Given the description of an element on the screen output the (x, y) to click on. 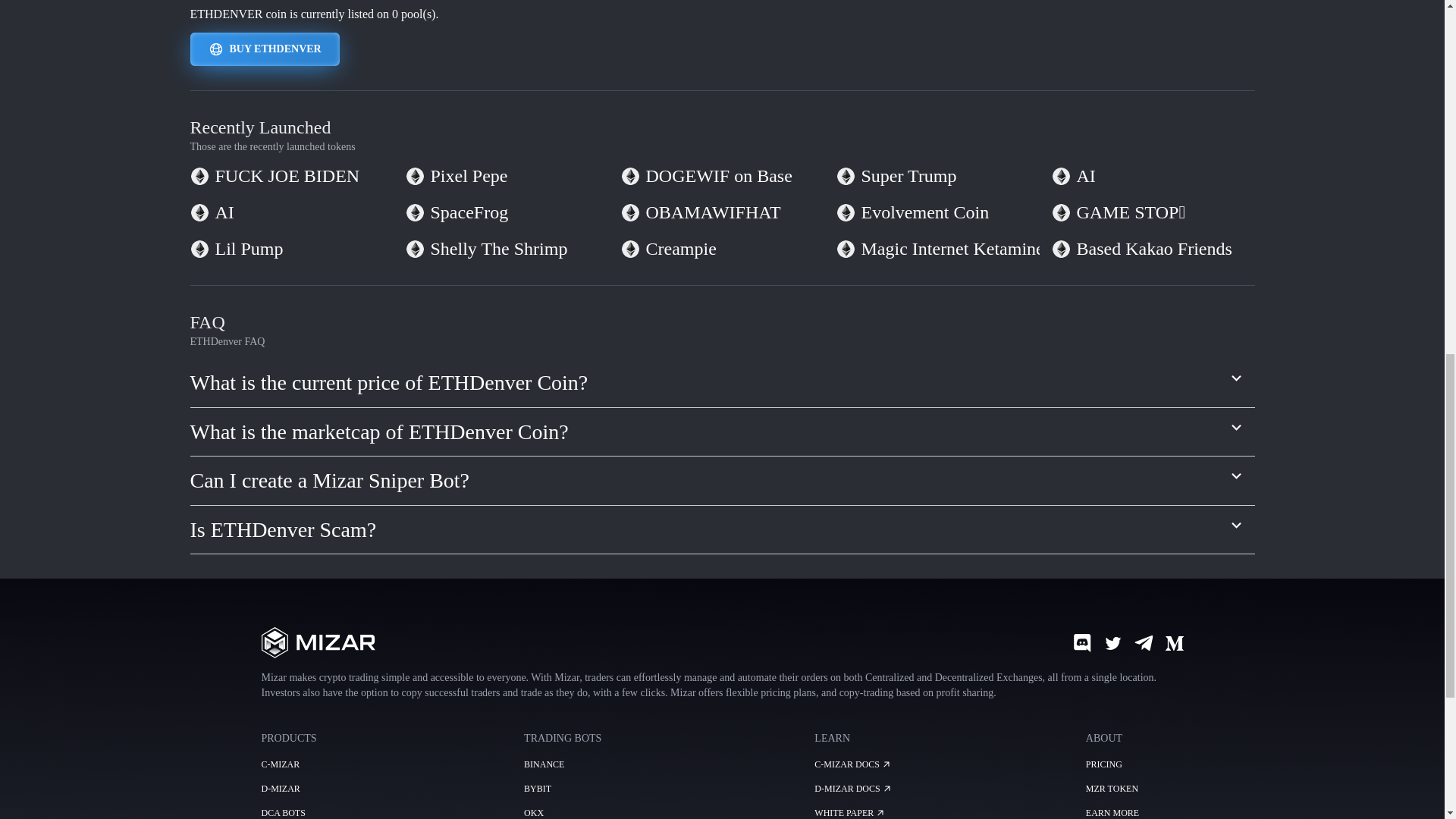
DOGEWIF on Base (719, 175)
discord (1080, 642)
C-MIZAR (279, 764)
D-MIZAR (279, 787)
medium (1173, 642)
SpaceFrog (469, 211)
Lil Pump (249, 248)
OBAMAWIFHAT (713, 211)
Based Kakao Friends (1154, 248)
Pixel Pepe (469, 175)
Magic Internet Ketamine (952, 248)
Super Trump (908, 175)
telegram (1143, 642)
twitter (1112, 642)
FUCK JOE BIDEN (287, 175)
